Given the description of an element on the screen output the (x, y) to click on. 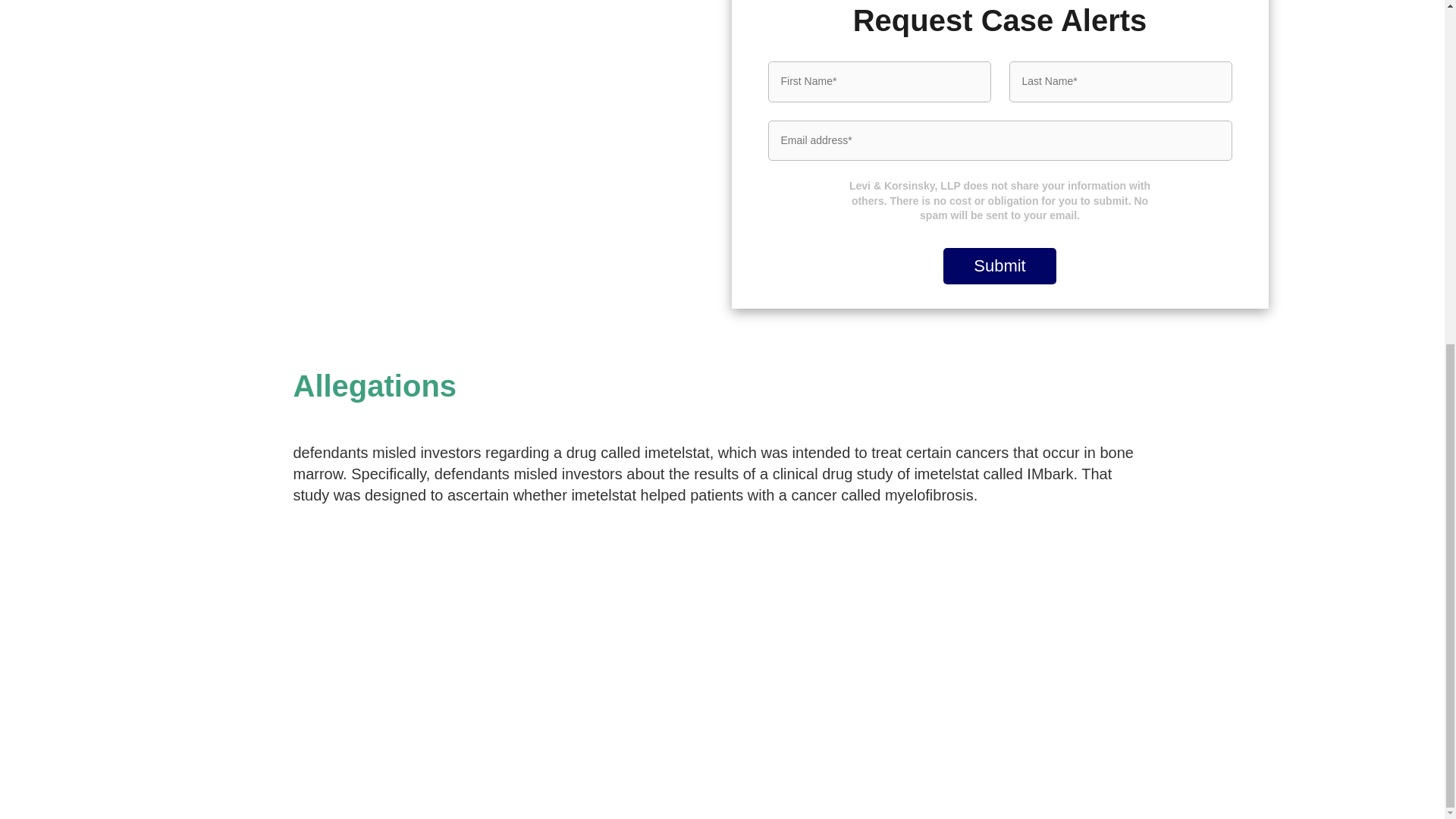
Submit (999, 266)
Submit (999, 266)
Privacy Notice (1231, 765)
